Given the description of an element on the screen output the (x, y) to click on. 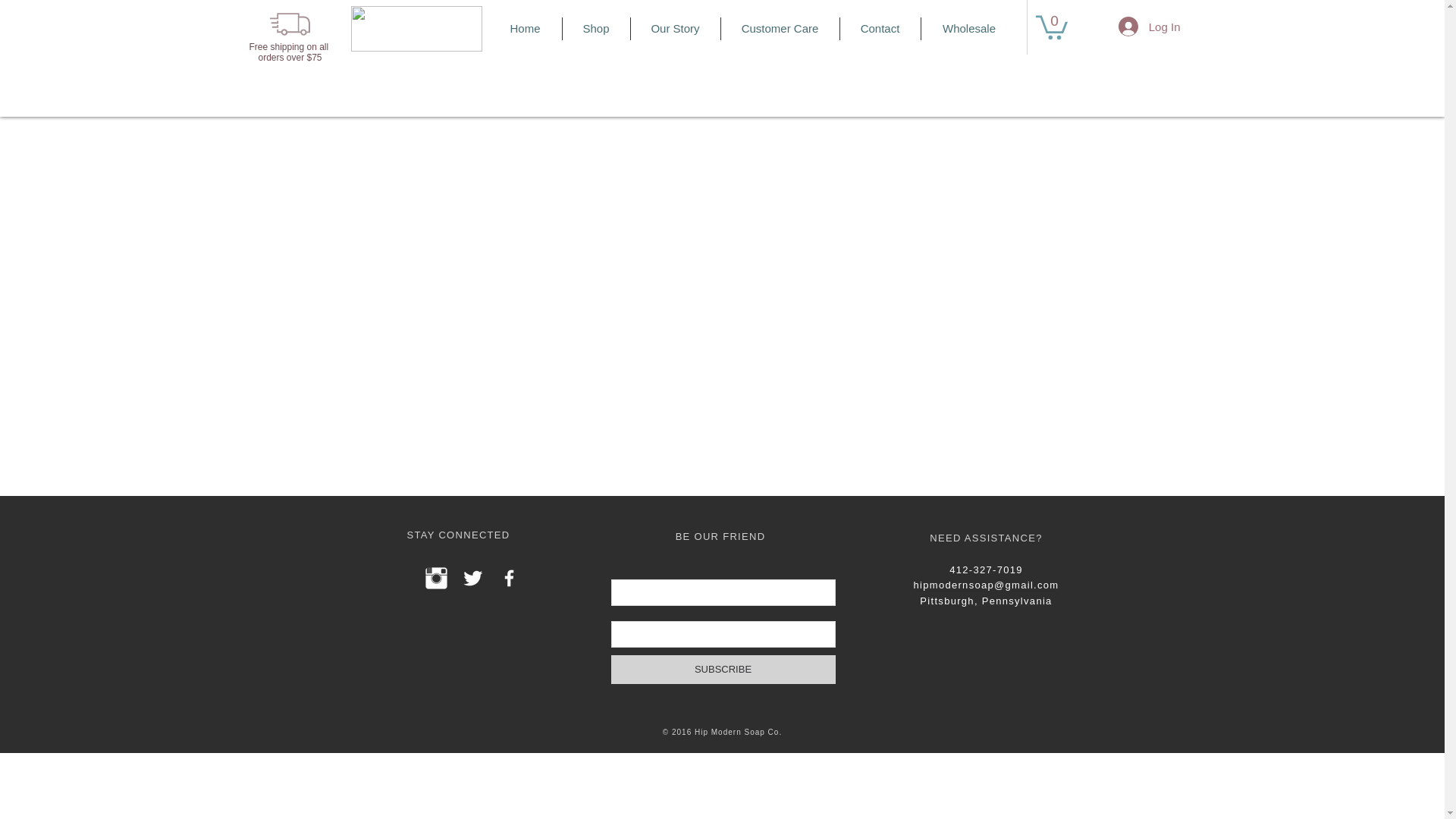
0 (1051, 26)
Our Story (675, 28)
Home (523, 28)
0 (1051, 26)
Contact (880, 28)
Wholesale (968, 28)
Shop (596, 28)
Log In (1149, 26)
Customer Care (779, 28)
SUBSCRIBE (723, 669)
